Given the description of an element on the screen output the (x, y) to click on. 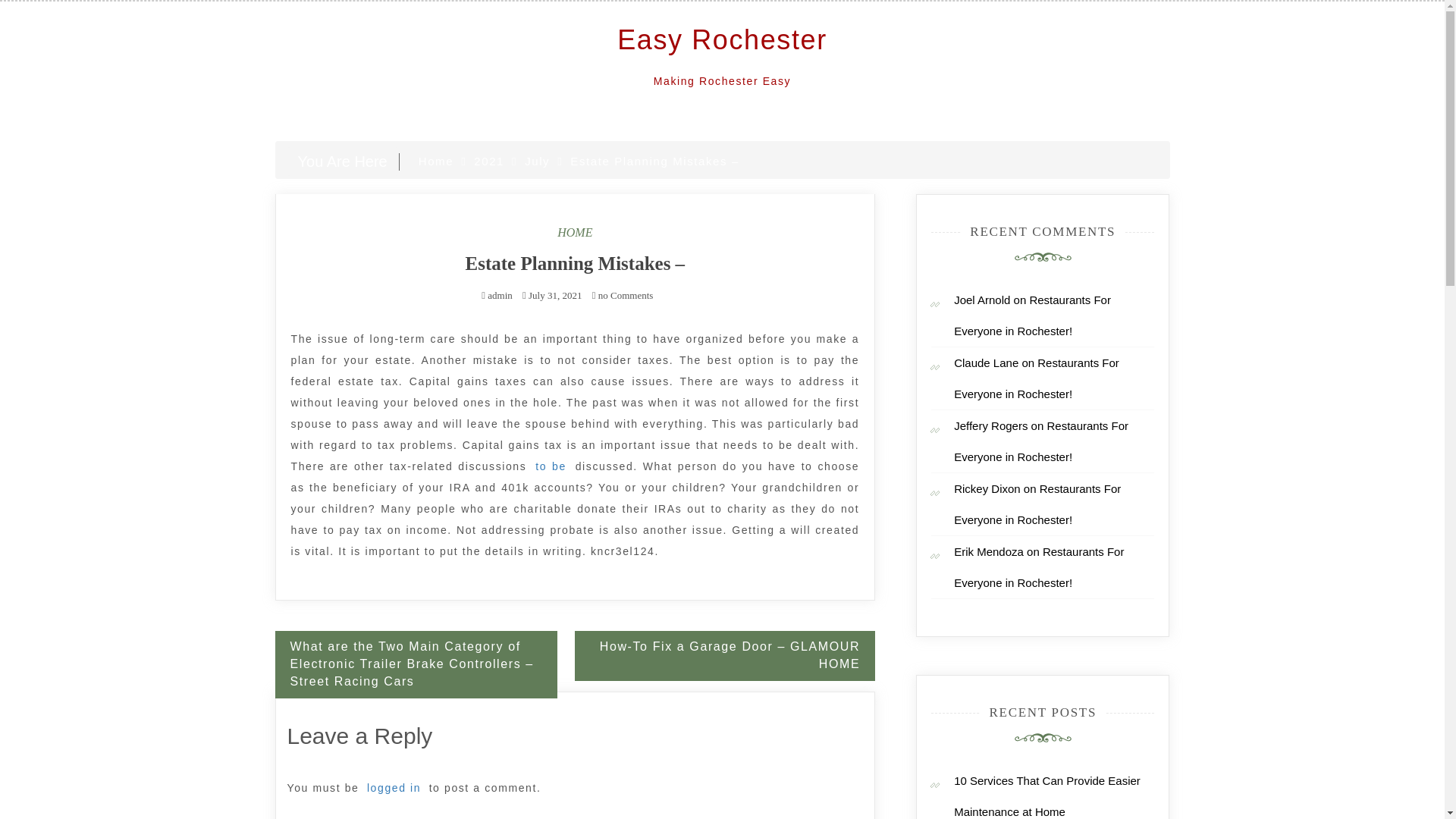
Joel Arnold (981, 299)
Restaurants For Everyone in Rochester! (1036, 378)
July (537, 160)
Restaurants For Everyone in Rochester! (1040, 441)
Easy Rochester (721, 39)
no Comments (622, 295)
to be (550, 465)
10 Services That Can Provide Easier Maintenance at Home (1046, 795)
Home (435, 160)
Restaurants For Everyone in Rochester! (1031, 315)
Jeffery Rogers (990, 425)
admin (499, 295)
July 31, 2021 (554, 295)
logged in (393, 787)
Posts by admin (499, 295)
